Given the description of an element on the screen output the (x, y) to click on. 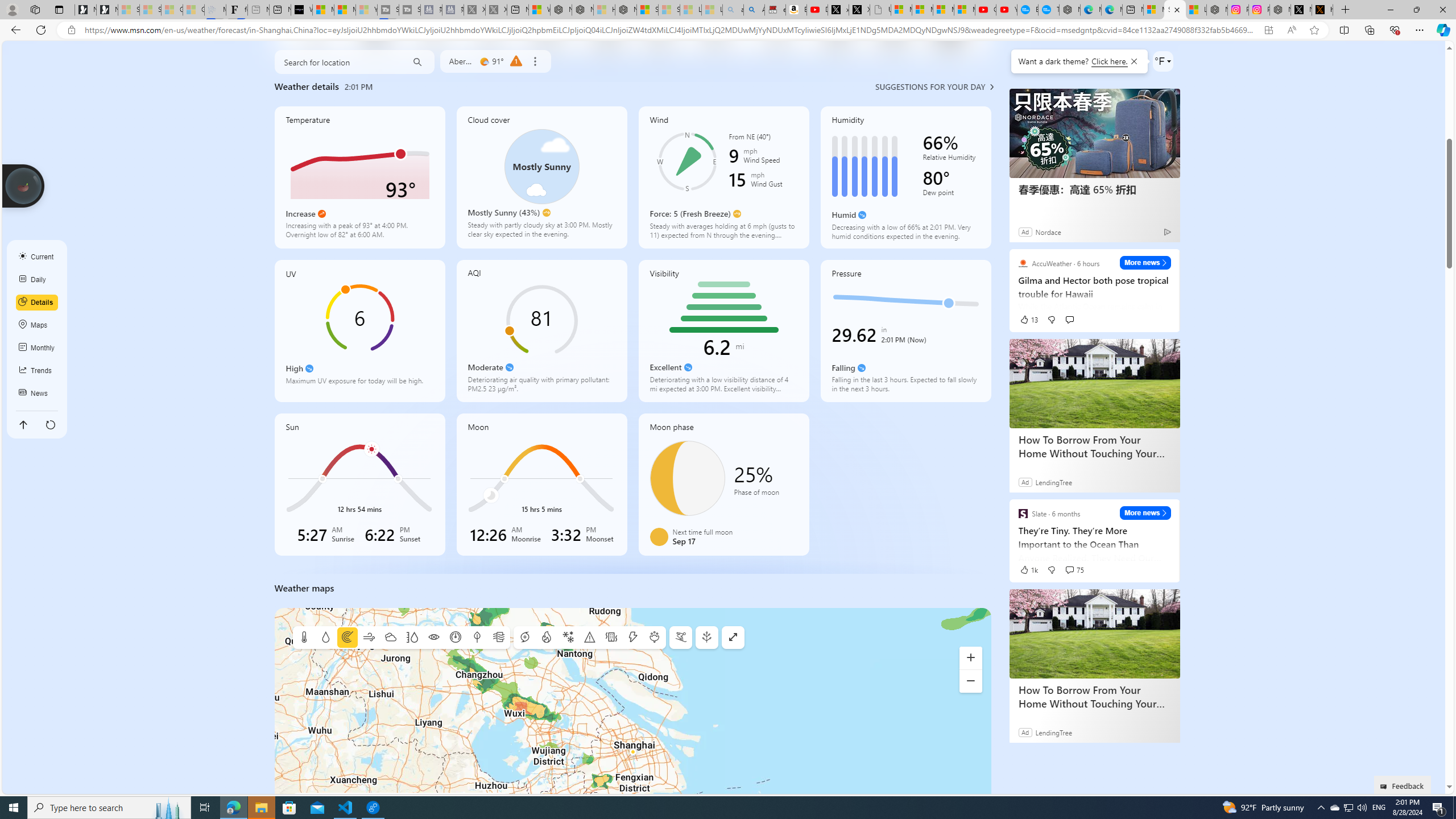
Ski conditions (680, 637)
Air quality (498, 637)
Refresh this page (50, 424)
Humidity (905, 177)
Severe weather (589, 637)
Precipitation (325, 637)
Visibility (433, 637)
